Given the description of an element on the screen output the (x, y) to click on. 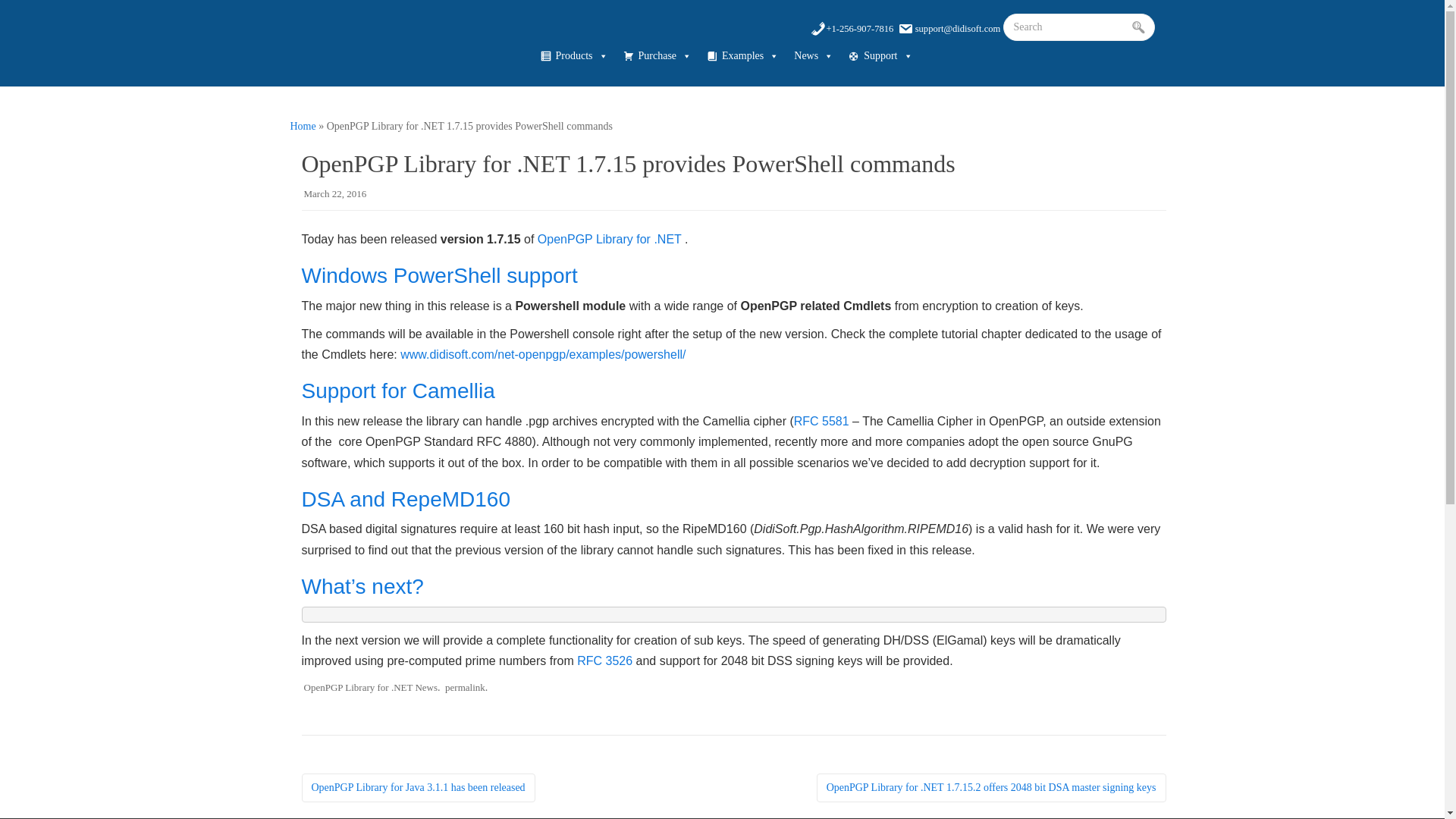
Examples (742, 55)
Purchase (657, 55)
News (813, 55)
Products (573, 55)
